Given the description of an element on the screen output the (x, y) to click on. 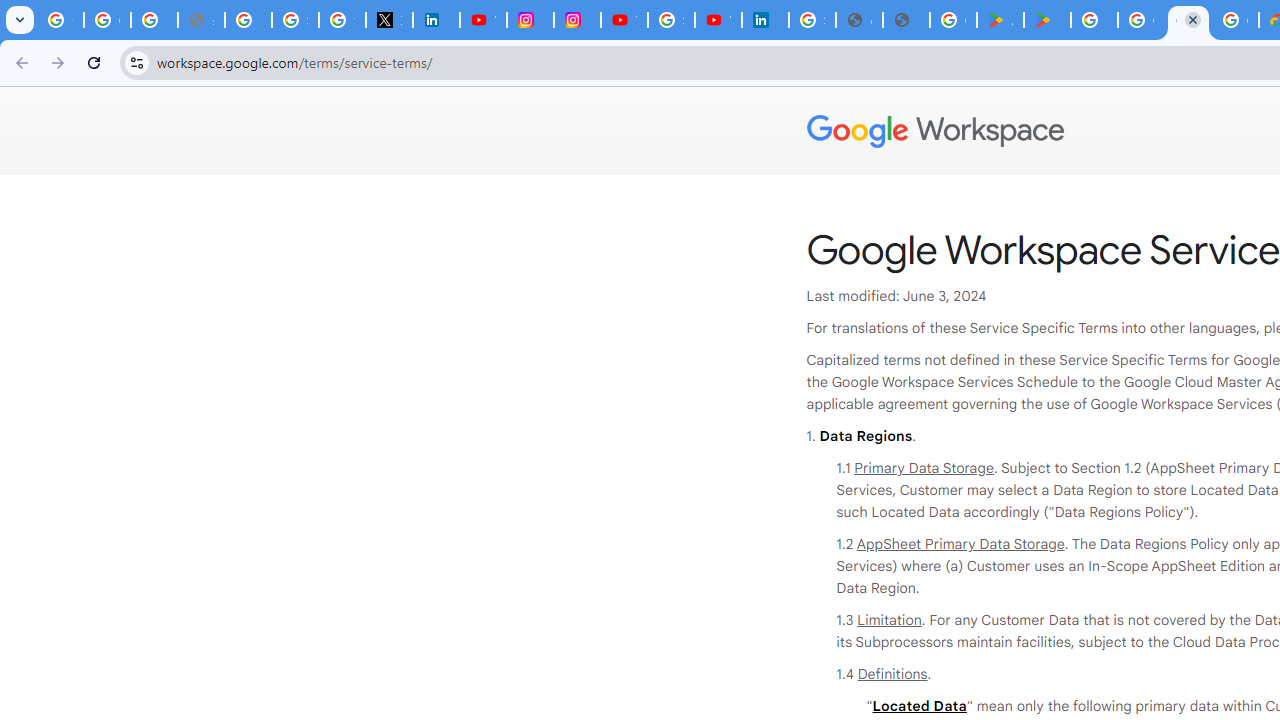
User Details (906, 20)
PAW Patrol Rescue World - Apps on Google Play (1047, 20)
X (389, 20)
Android Apps on Google Play (999, 20)
